Given the description of an element on the screen output the (x, y) to click on. 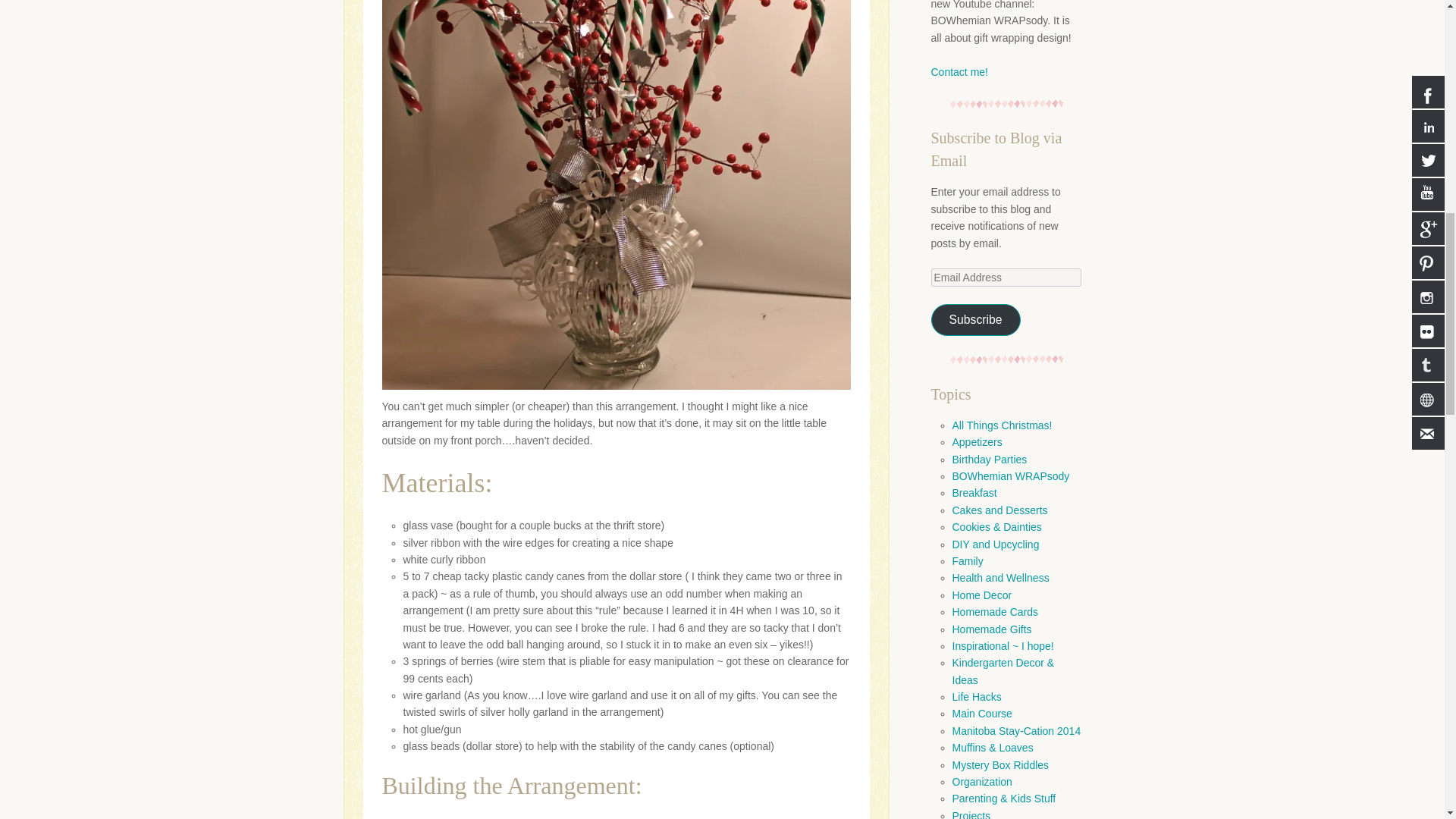
Breakfast (974, 492)
Cakes and Desserts (1000, 510)
Subscribe (975, 319)
All Things Christmas! (1002, 425)
Appetizers (977, 441)
Contact me! (959, 72)
Birthday Parties (989, 459)
DIY and Upcycling (995, 544)
BOWhemian WRAPsody (1011, 476)
